Given the description of an element on the screen output the (x, y) to click on. 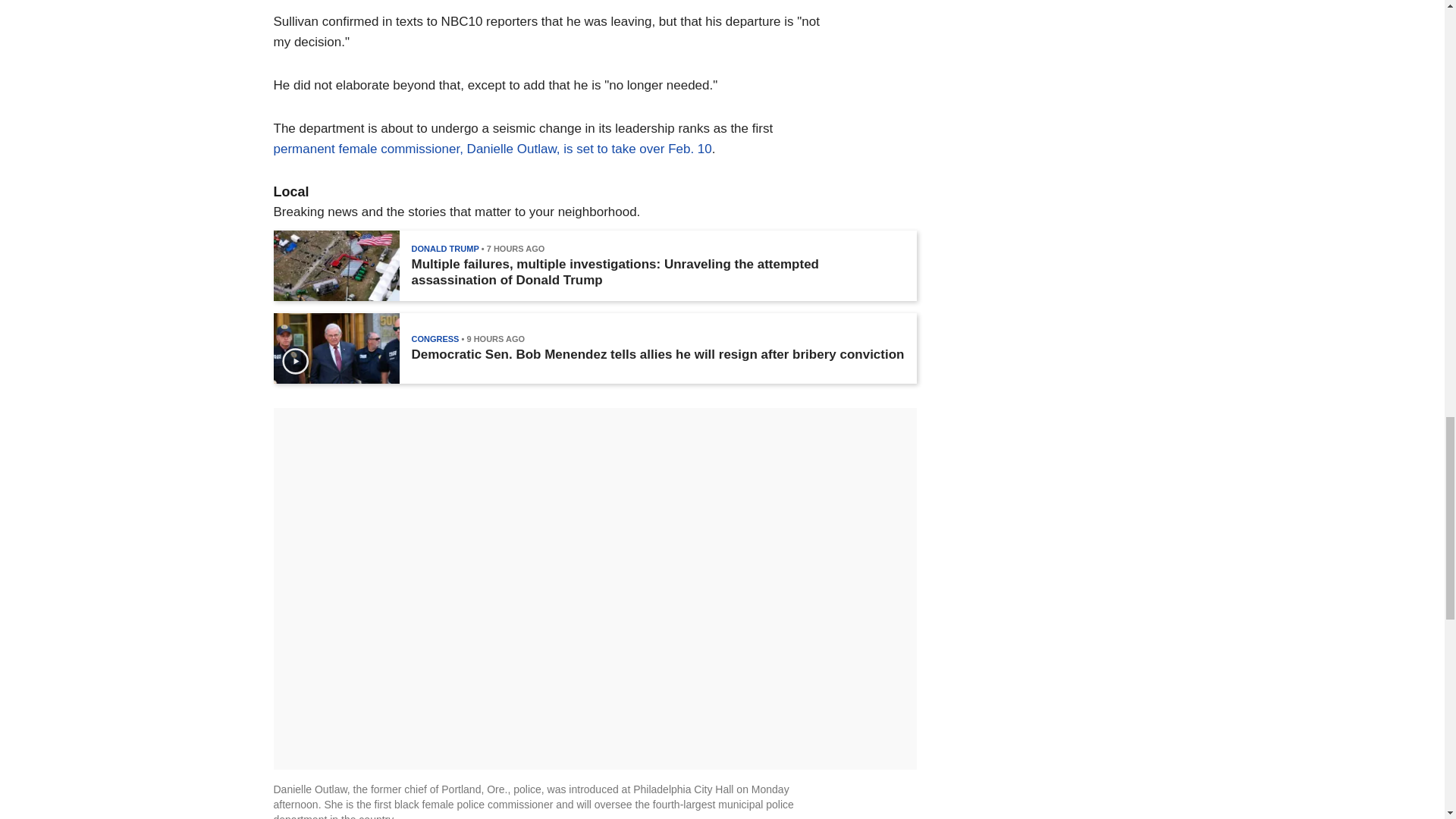
CONGRESS (434, 338)
DONALD TRUMP (444, 248)
